Given the description of an element on the screen output the (x, y) to click on. 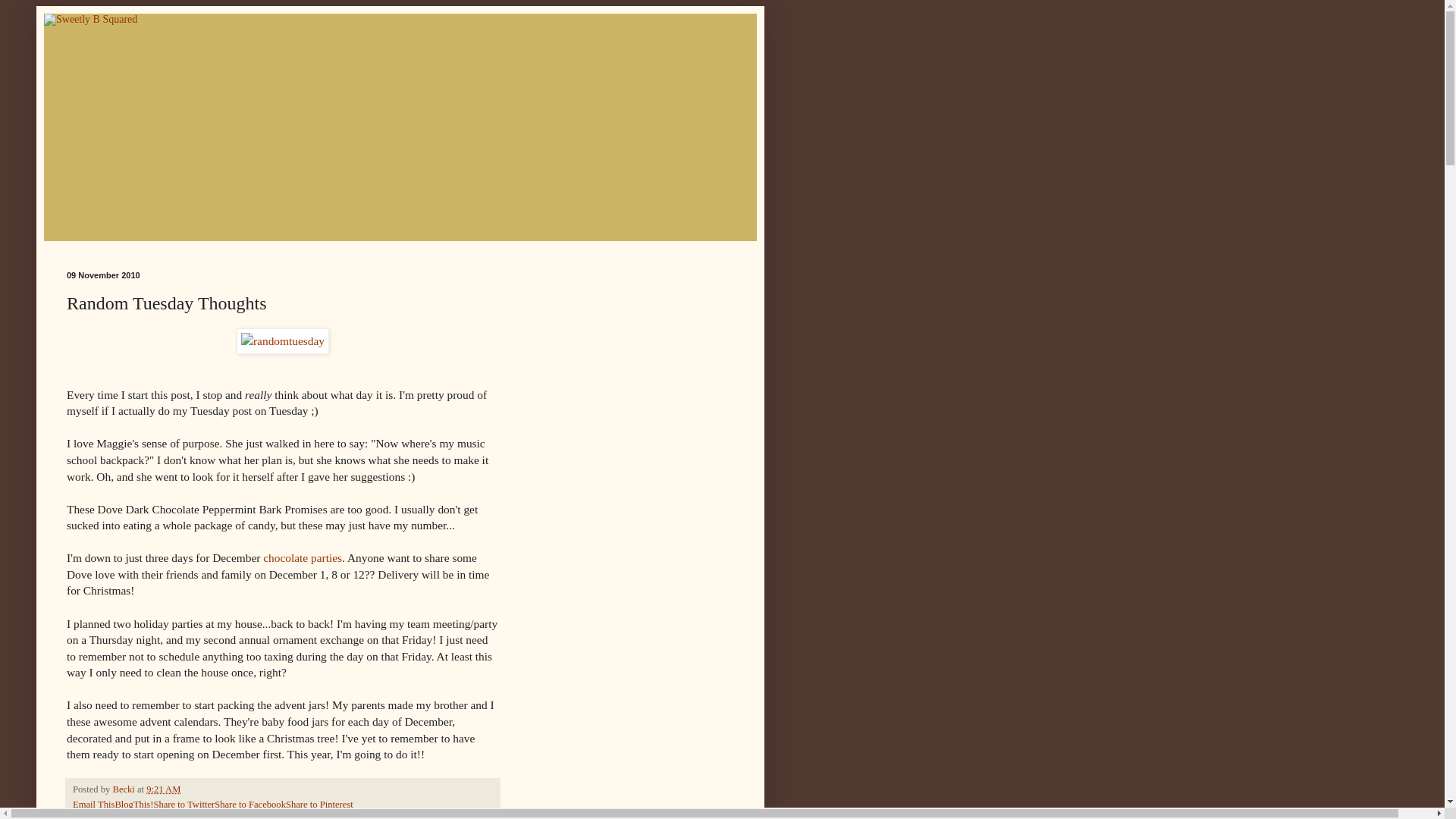
BlogThis! (133, 804)
Share to Twitter (183, 804)
Becki (124, 788)
Email This (93, 804)
Share to Facebook (249, 804)
Share to Pinterest (319, 804)
chocolate parties (302, 557)
Email This (93, 804)
Share to Pinterest (319, 804)
BlogThis! (133, 804)
9:21 AM (163, 788)
Share to Facebook (249, 804)
Random Tuesday Thoughts (155, 816)
Share to Twitter (183, 804)
author profile (124, 788)
